Given the description of an element on the screen output the (x, y) to click on. 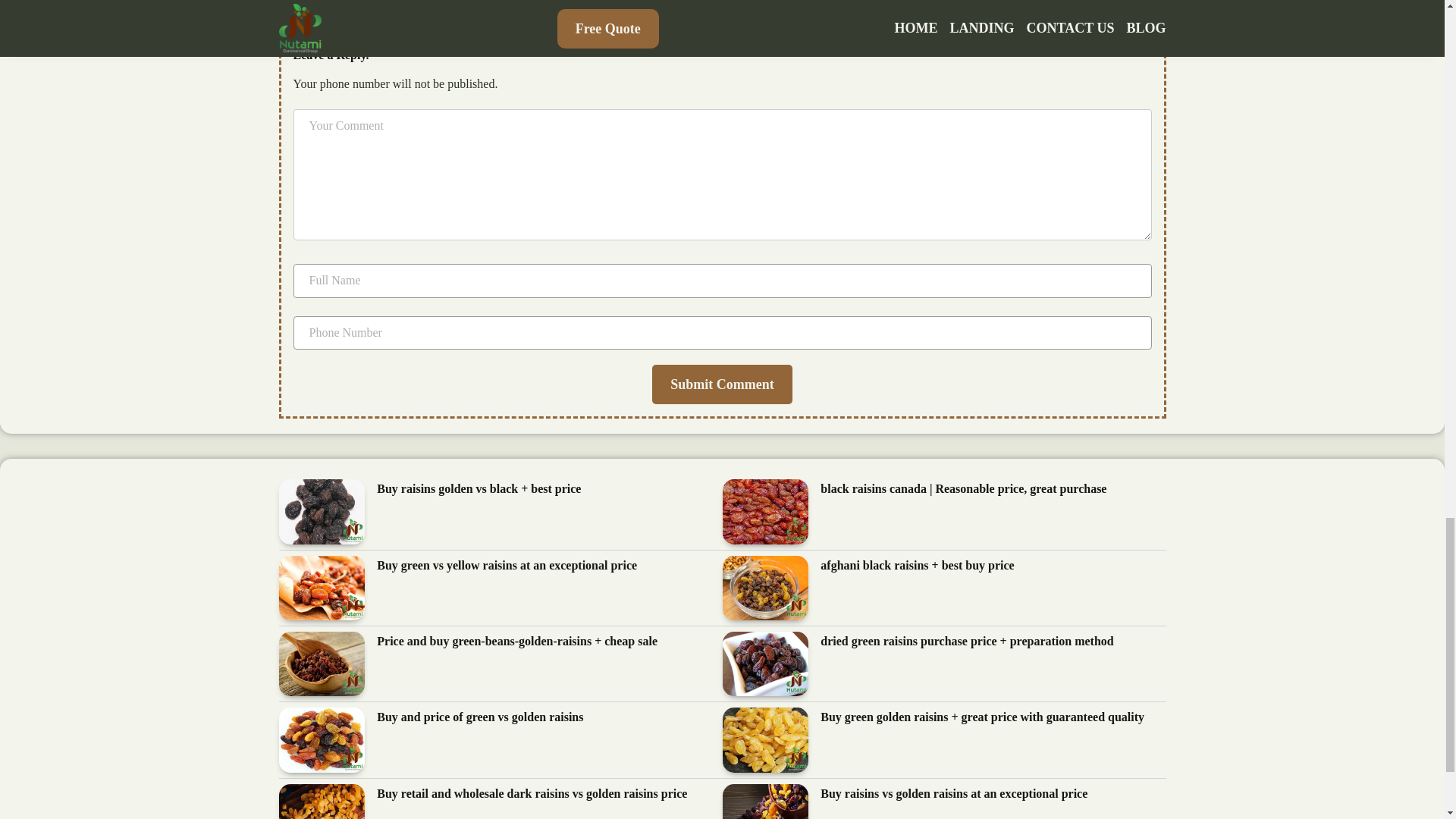
Submit Comment (722, 384)
Buy green vs yellow raisins at an exceptional price (507, 566)
Submit Comment (722, 384)
Buy raisins vs golden raisins at an exceptional price (954, 793)
Buy and price of green vs golden raisins (480, 717)
